Given the description of an element on the screen output the (x, y) to click on. 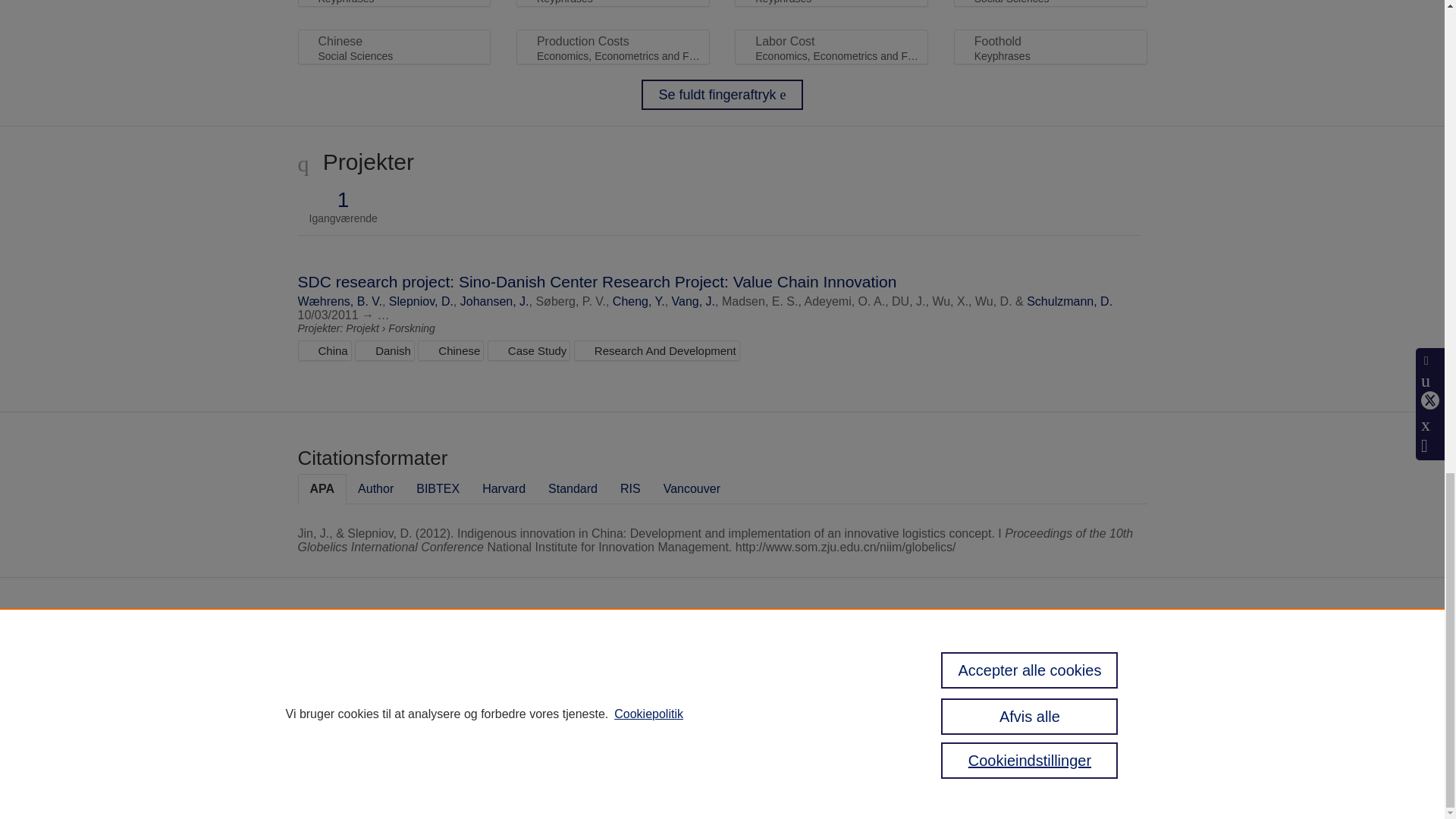
1 (342, 200)
Se fuldt fingeraftryk (722, 94)
